Given the description of an element on the screen output the (x, y) to click on. 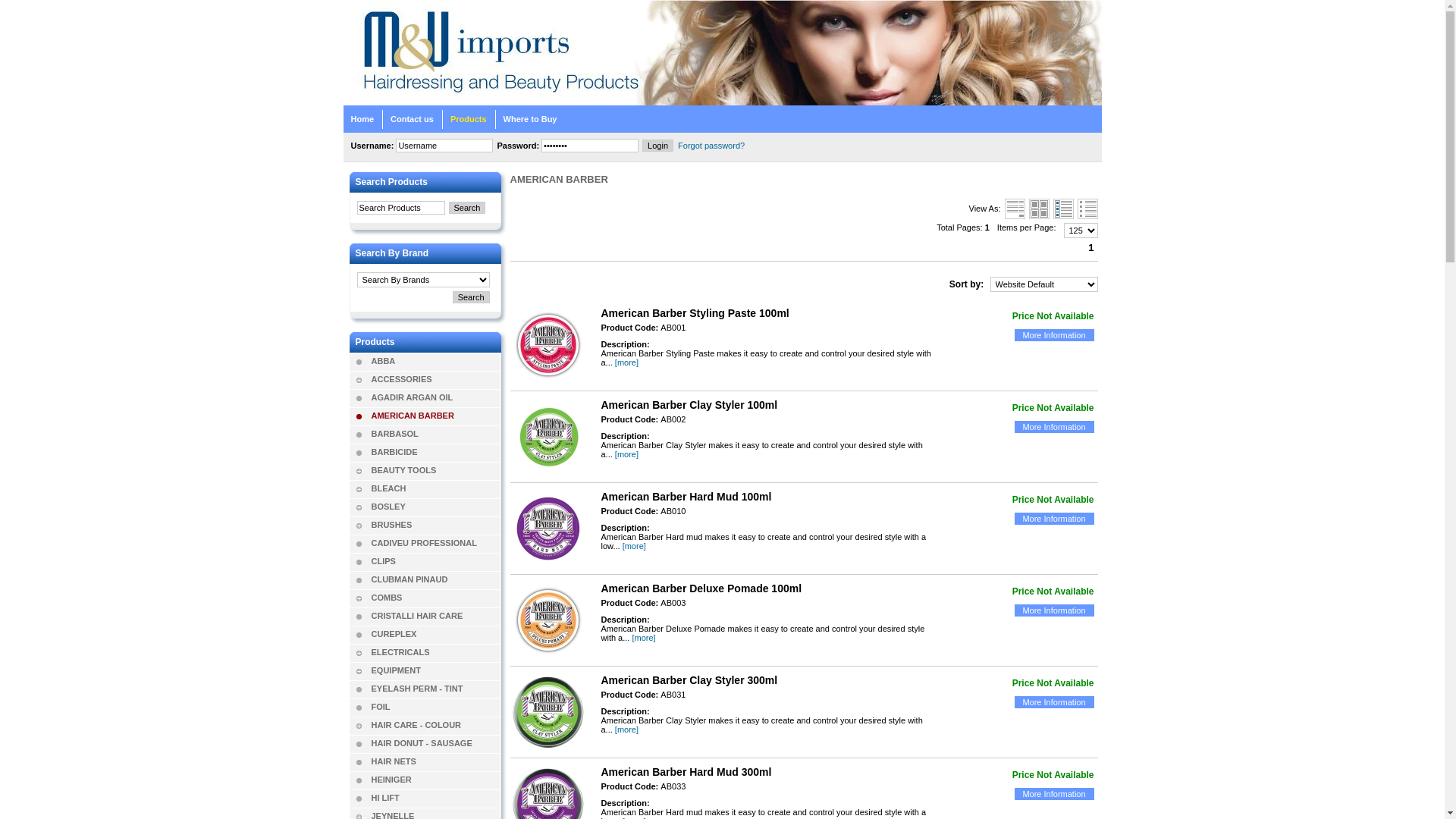
Home Element type: text (361, 118)
HAIR DONUT - SAUSAGE Element type: text (435, 742)
CADIVEU PROFESSIONAL Element type: text (435, 542)
Line Style Element type: hover (1086, 208)
Default Style Element type: hover (1014, 208)
BARBICIDE Element type: text (435, 451)
BRUSHES Element type: text (435, 524)
American Barber Deluxe Pomade 100ml Element type: text (700, 588)
American Barber Hard Mud 100ml Element type: text (685, 496)
HEINIGER Element type: text (435, 779)
More Information Element type: text (1054, 610)
More Information Element type: hover (1054, 426)
EQUIPMENT Element type: text (435, 669)
More Information Element type: hover (1054, 702)
Search by Brand Element type: hover (470, 297)
AGADIR ARGAN OIL Element type: text (435, 396)
More Information Element type: text (1054, 702)
COMBS Element type: text (435, 597)
Gallery Style Element type: hover (1038, 208)
EYELASH PERM - TINT Element type: text (435, 688)
Contact us Element type: text (411, 118)
American Barber Clay Styler 100ml Element type: text (688, 404)
ELECTRICALS Element type: text (435, 651)
FOIL Element type: text (435, 706)
[more] Element type: text (626, 453)
More Information Element type: hover (1054, 793)
HAIR NETS Element type: text (435, 760)
ACCESSORIES Element type: text (435, 378)
American Barber Clay Styler 300ml Element type: text (688, 680)
BARBASOL Element type: text (435, 433)
More Information Element type: hover (1054, 335)
More Information Element type: hover (1054, 518)
CLIPS Element type: text (435, 560)
American Barber Styling Paste 100ml - Click for more info Element type: hover (547, 344)
[more] Element type: text (643, 637)
American Barber Hard Mud 300ml Element type: text (685, 771)
American Barber Styling Paste 100ml Element type: text (694, 313)
Forgot password? Element type: text (710, 145)
Search Element type: text (470, 297)
More Information Element type: text (1054, 426)
ABBA Element type: text (435, 360)
[more] Element type: text (634, 545)
American Barber Deluxe Pomade 100ml - Click for more info Element type: hover (547, 620)
CLUBMAN PINAUD Element type: text (435, 578)
Products Element type: text (374, 341)
HAIR CARE - COLOUR Element type: text (435, 724)
American Barber Hard Mud 100ml - Click for more info Element type: hover (547, 528)
More Information Element type: hover (1054, 610)
[more] Element type: text (626, 729)
BEAUTY TOOLS Element type: text (435, 469)
More Information Element type: text (1054, 793)
Login Element type: text (657, 145)
AMERICAN BARBER Element type: text (435, 415)
M&U Imports Home Element type: hover (431, 73)
Products Element type: text (468, 118)
Where to Buy Element type: text (529, 118)
HI LIFT Element type: text (435, 797)
American Barber Clay Styler 300ml - Click for more info Element type: hover (547, 711)
Search Element type: text (467, 207)
American Barber Clay Styler 100ml - Click for more info Element type: hover (547, 436)
CUREPLEX Element type: text (435, 633)
BLEACH Element type: text (435, 487)
CRISTALLI HAIR CARE Element type: text (435, 615)
BOSLEY Element type: text (435, 506)
More Information Element type: text (1054, 518)
More Information Element type: text (1054, 335)
[more] Element type: text (626, 362)
Search Products Element type: hover (467, 207)
